Given the description of an element on the screen output the (x, y) to click on. 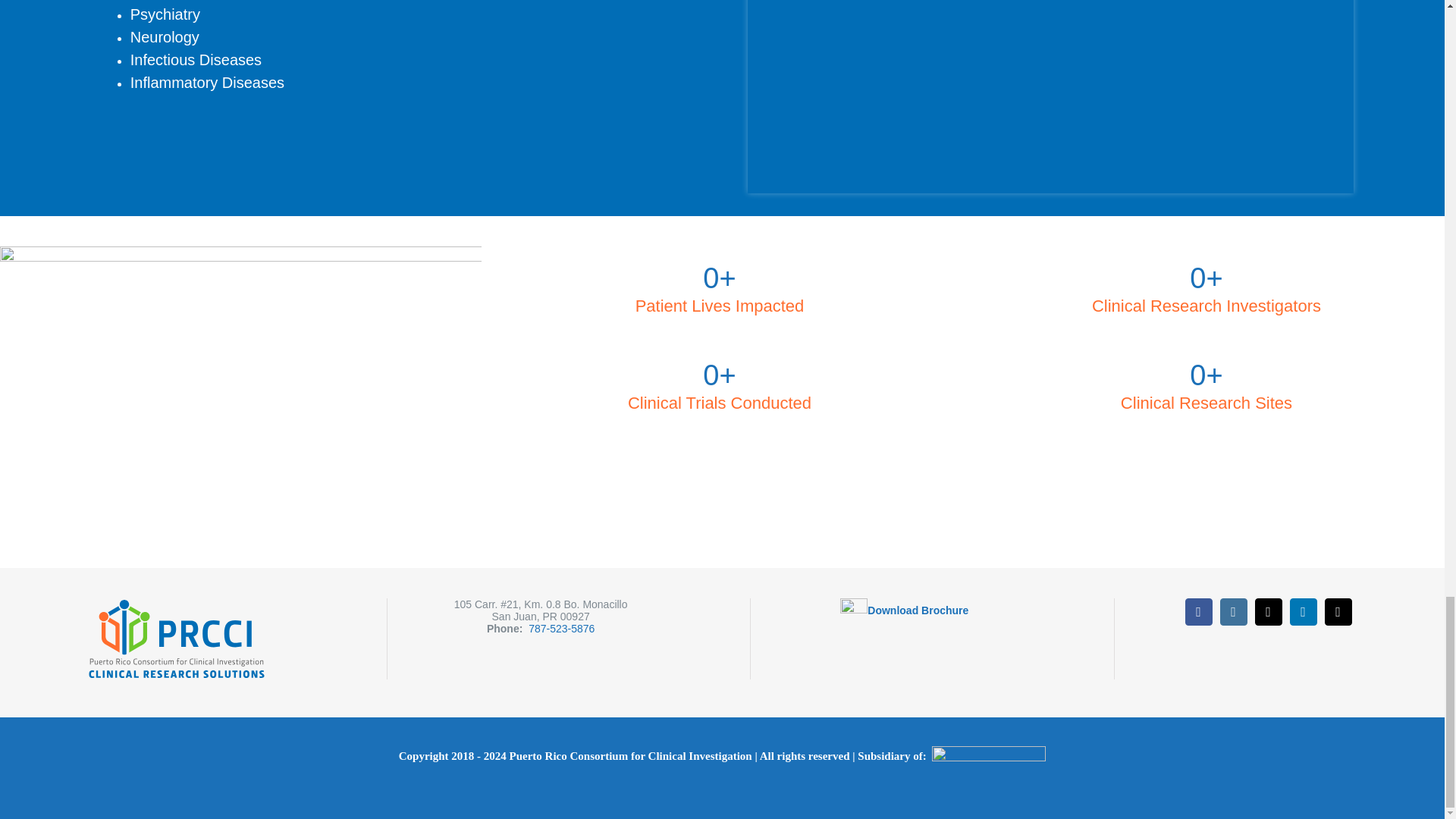
787-523-5876 (561, 627)
Facebook (1198, 610)
Download Brochure (917, 609)
Image (1051, 97)
